Given the description of an element on the screen output the (x, y) to click on. 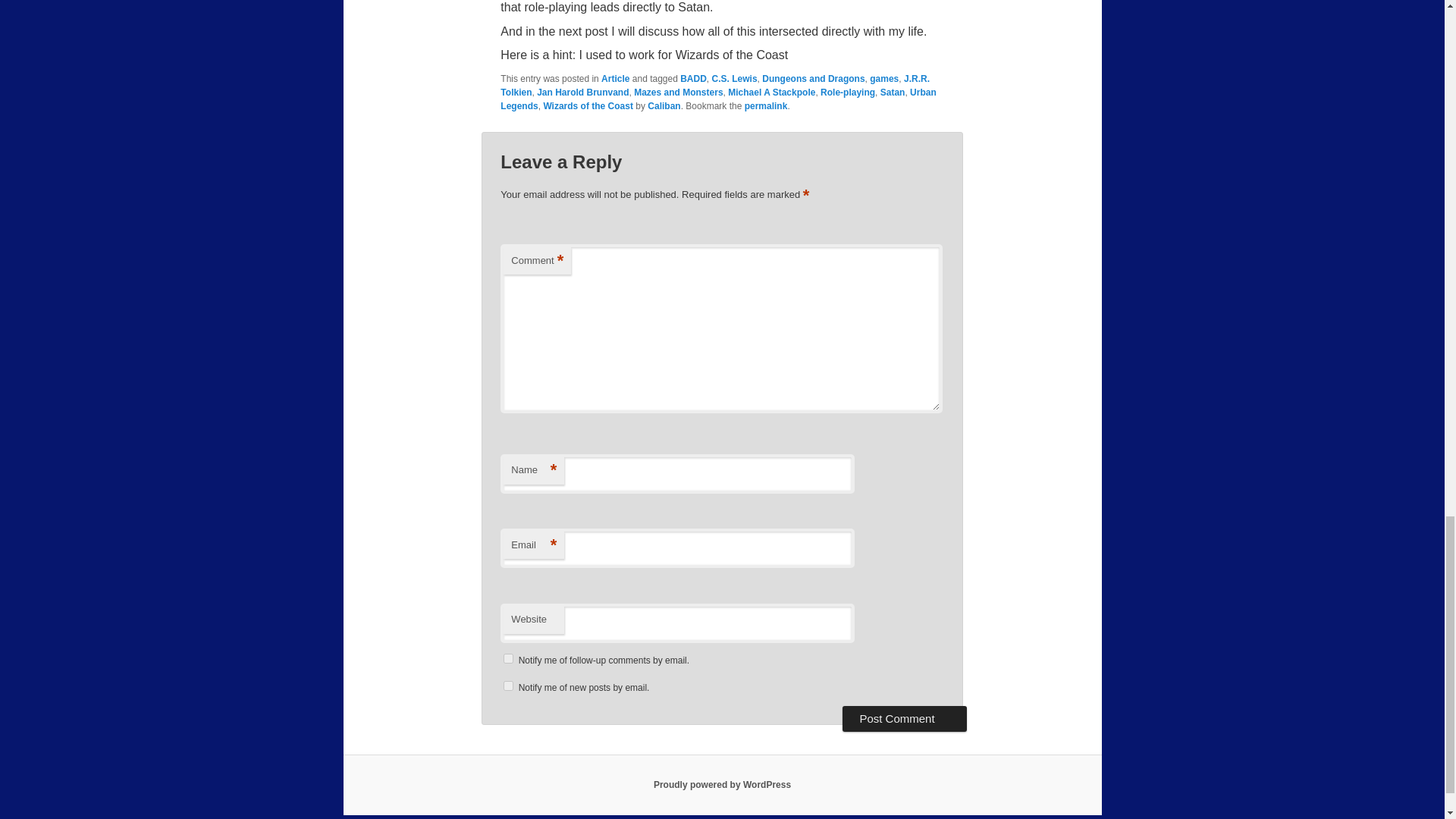
Mazes and Monsters (677, 91)
Permalink to Role-Playing and Urban Legends Part 1 (765, 105)
Post Comment (904, 718)
Urban Legends (718, 98)
Role-playing (848, 91)
Article (614, 78)
subscribe (508, 658)
Semantic Personal Publishing Platform (721, 784)
Wizards of the Coast (588, 105)
BADD (692, 78)
